Given the description of an element on the screen output the (x, y) to click on. 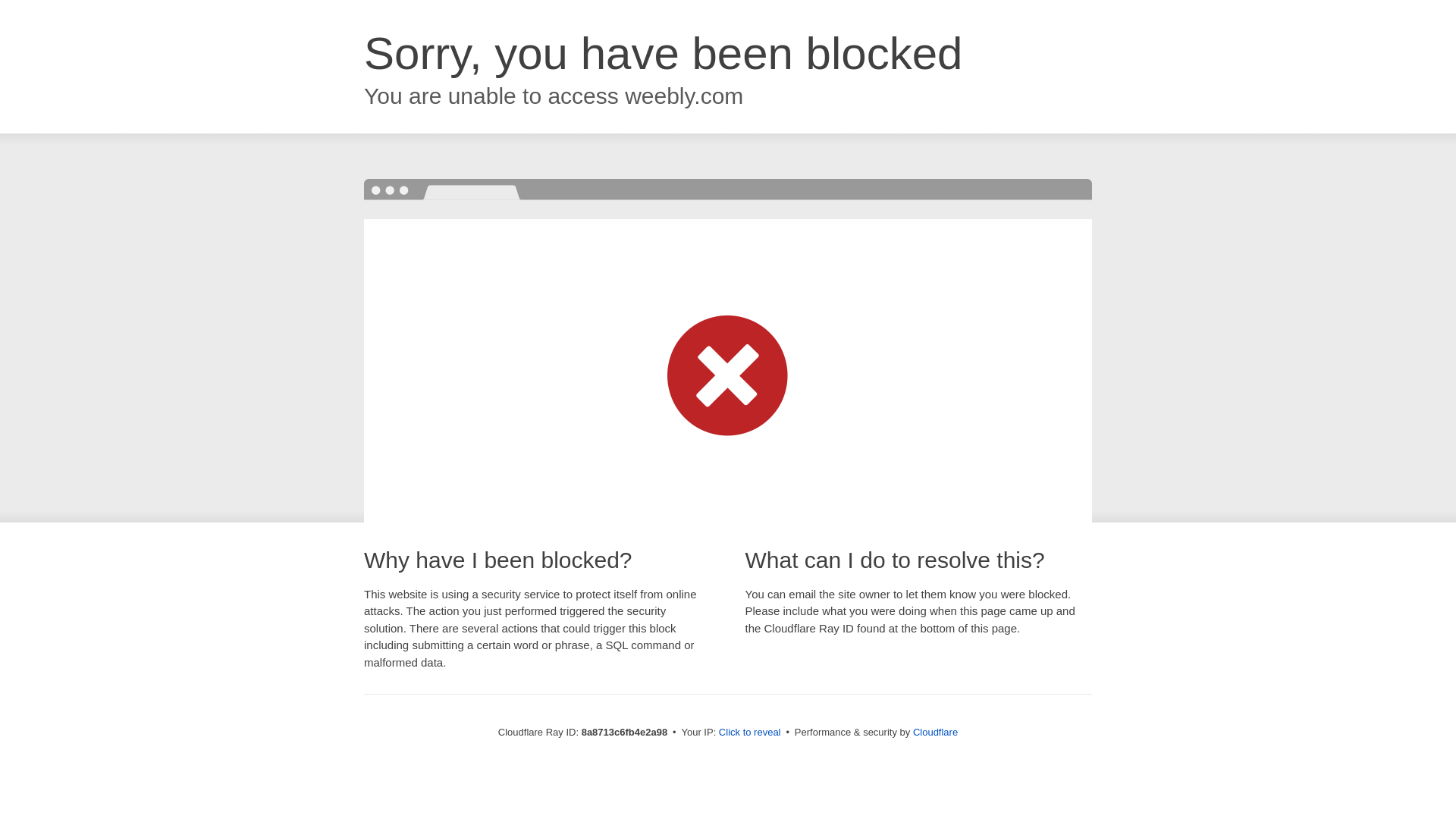
Click to reveal (749, 732)
Cloudflare (935, 731)
